Given the description of an element on the screen output the (x, y) to click on. 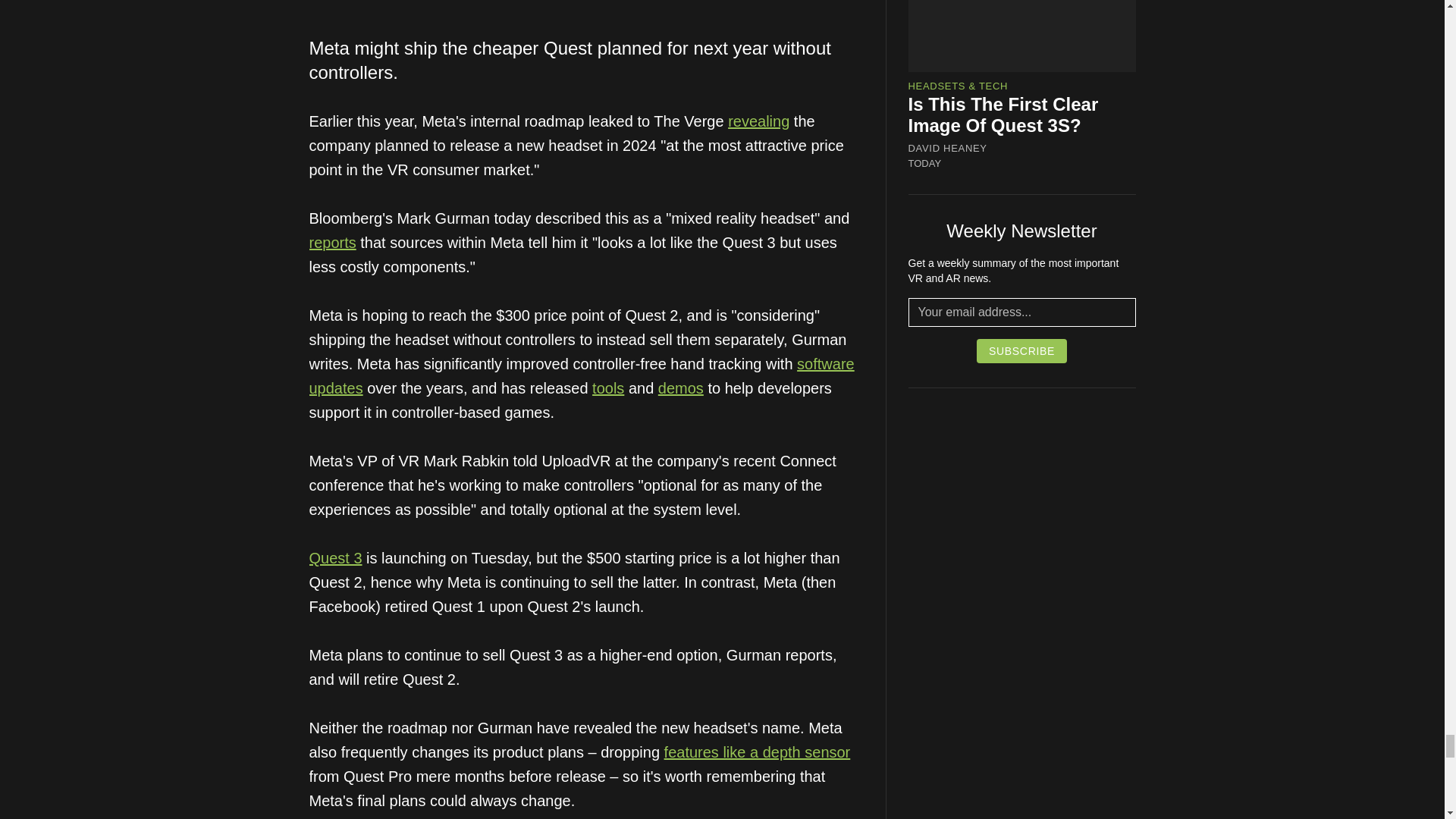
tools (608, 388)
Quest 3 (335, 557)
reports (332, 242)
Is This The First Clear Image Of Quest 3S? (1003, 114)
DAVID HEANEY (947, 148)
Subscribe (1021, 351)
demos (680, 388)
software updates (581, 375)
Subscribe (1021, 351)
features like a depth sensor (756, 751)
revealing (758, 121)
